Given the description of an element on the screen output the (x, y) to click on. 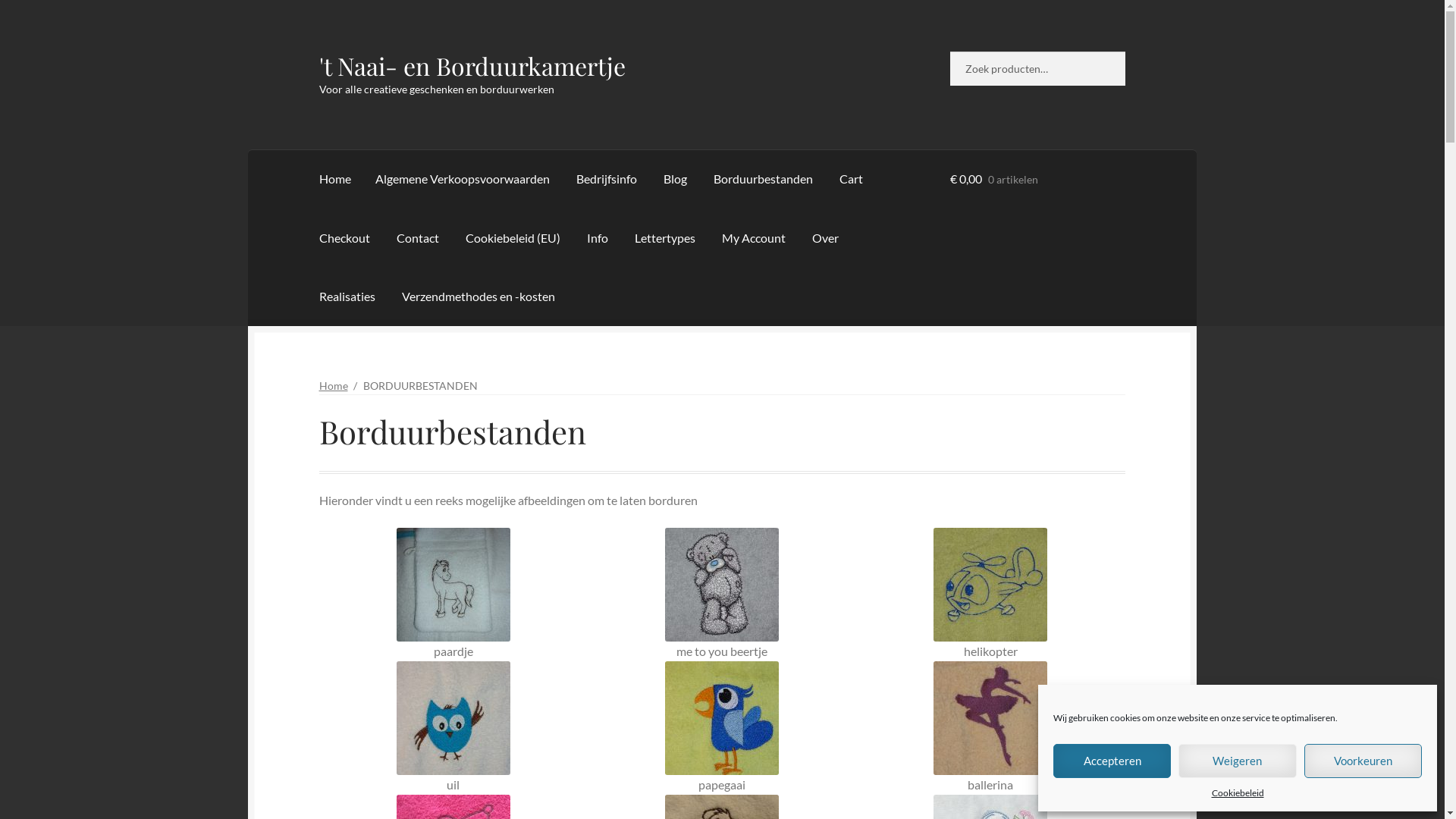
Lettertypes Element type: text (664, 237)
Voorkeuren Element type: text (1362, 760)
Checkout Element type: text (344, 237)
Home Element type: text (333, 385)
Weigeren Element type: text (1236, 760)
My Account Element type: text (753, 237)
Algemene Verkoopsvoorwaarden Element type: text (462, 178)
Blog Element type: text (675, 178)
Zoeken Element type: text (949, 50)
Cookiebeleid (EU) Element type: text (512, 237)
Borduurbestanden Element type: text (763, 178)
Verzendmethodes en -kosten Element type: text (478, 296)
't Naai- en Borduurkamertje Element type: text (472, 65)
Info Element type: text (597, 237)
Over Element type: text (825, 237)
Cart Element type: text (851, 178)
Contact Element type: text (417, 237)
Cookiebeleid Element type: text (1237, 792)
Bedrijfsinfo Element type: text (606, 178)
Ga door naar navigatie Element type: text (318, 50)
Accepteren Element type: text (1111, 760)
Home Element type: text (335, 178)
Realisaties Element type: text (347, 296)
